Given the description of an element on the screen output the (x, y) to click on. 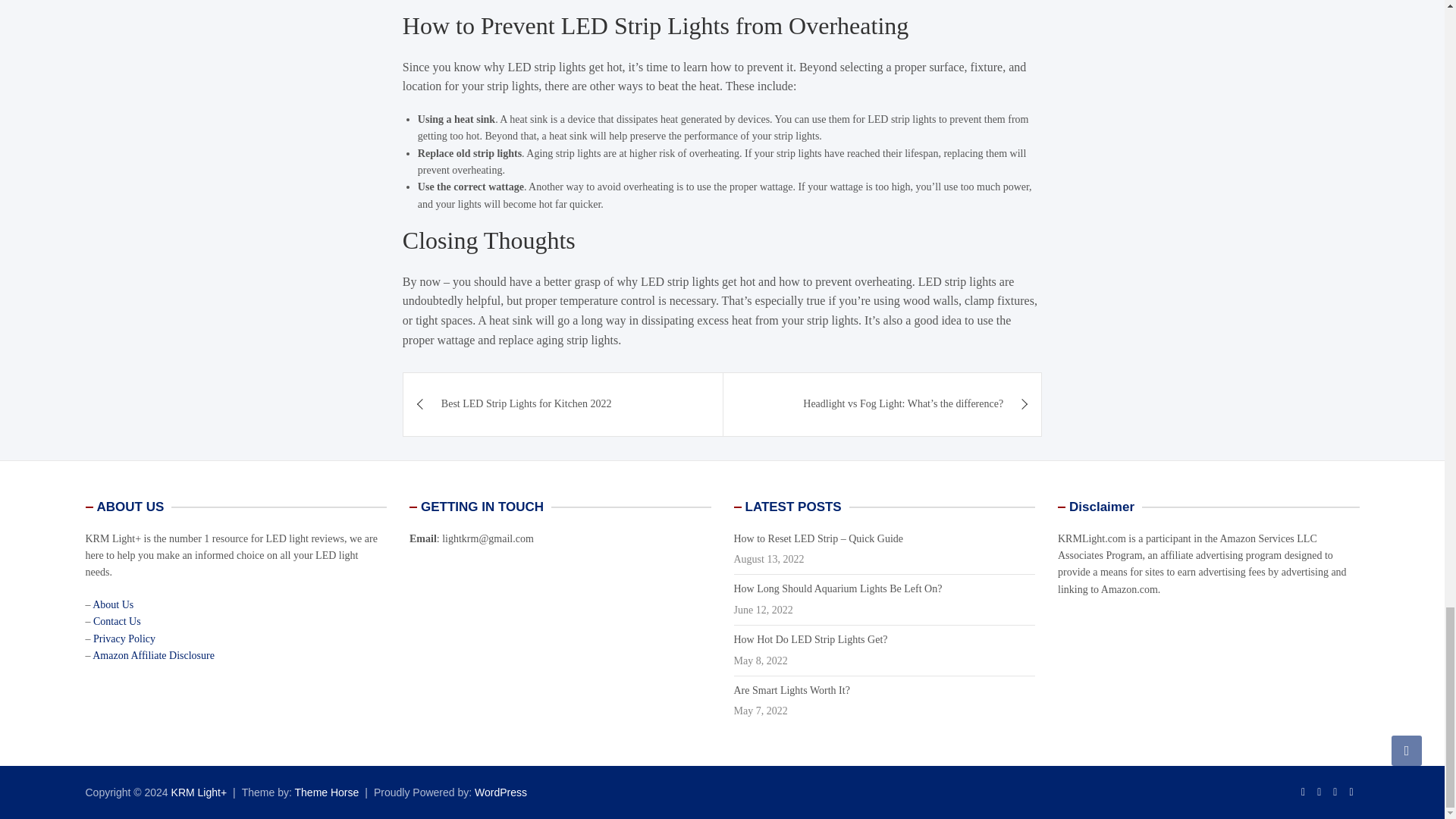
Theme Horse (327, 792)
Privacy Policy (124, 638)
WordPress (500, 792)
About Us (113, 604)
Best LED Strip Lights for Kitchen 2022 (562, 403)
Contact Us (117, 621)
Amazon Affiliate Disclosure (153, 655)
